Given the description of an element on the screen output the (x, y) to click on. 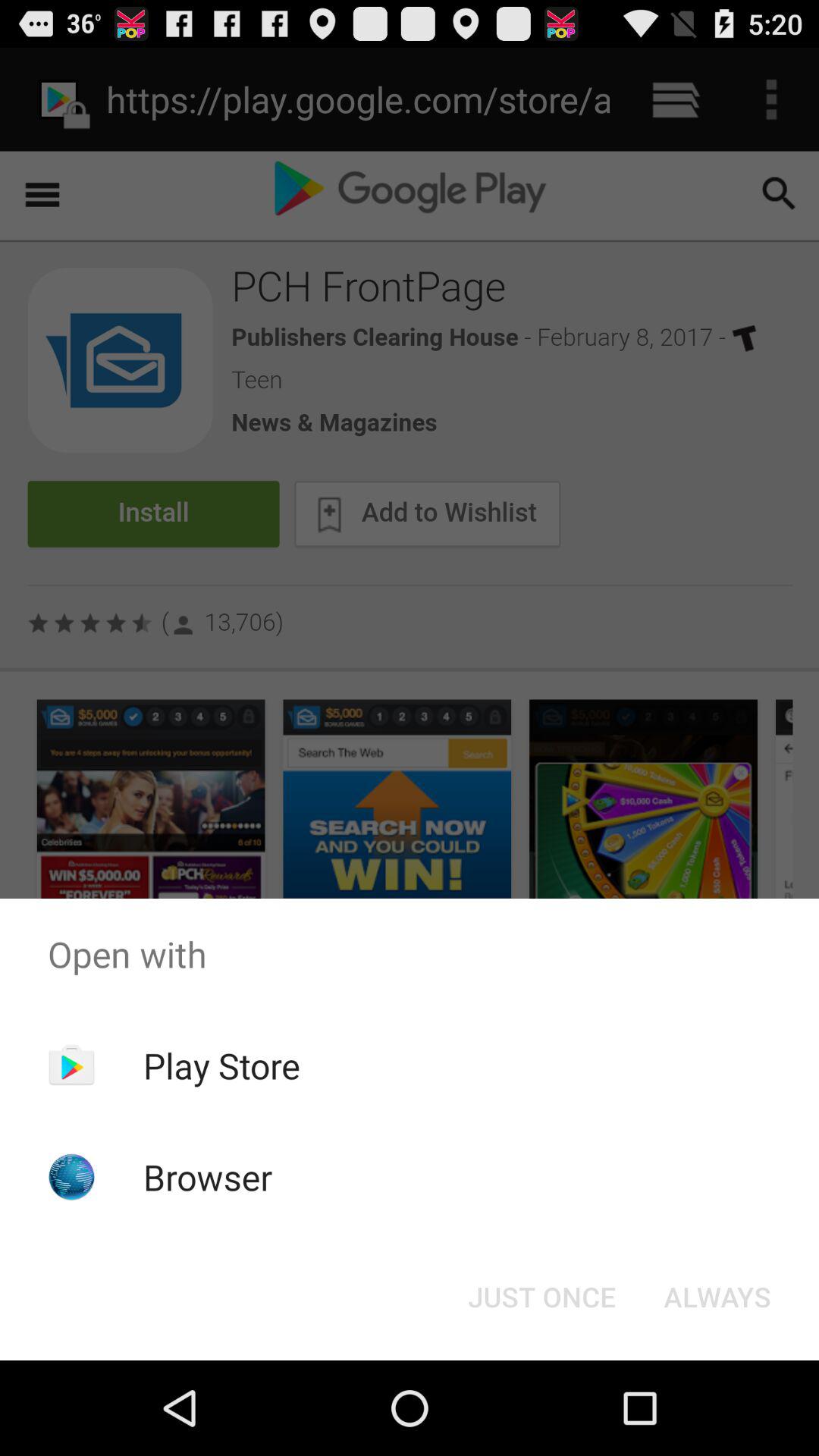
press the just once at the bottom (541, 1296)
